Given the description of an element on the screen output the (x, y) to click on. 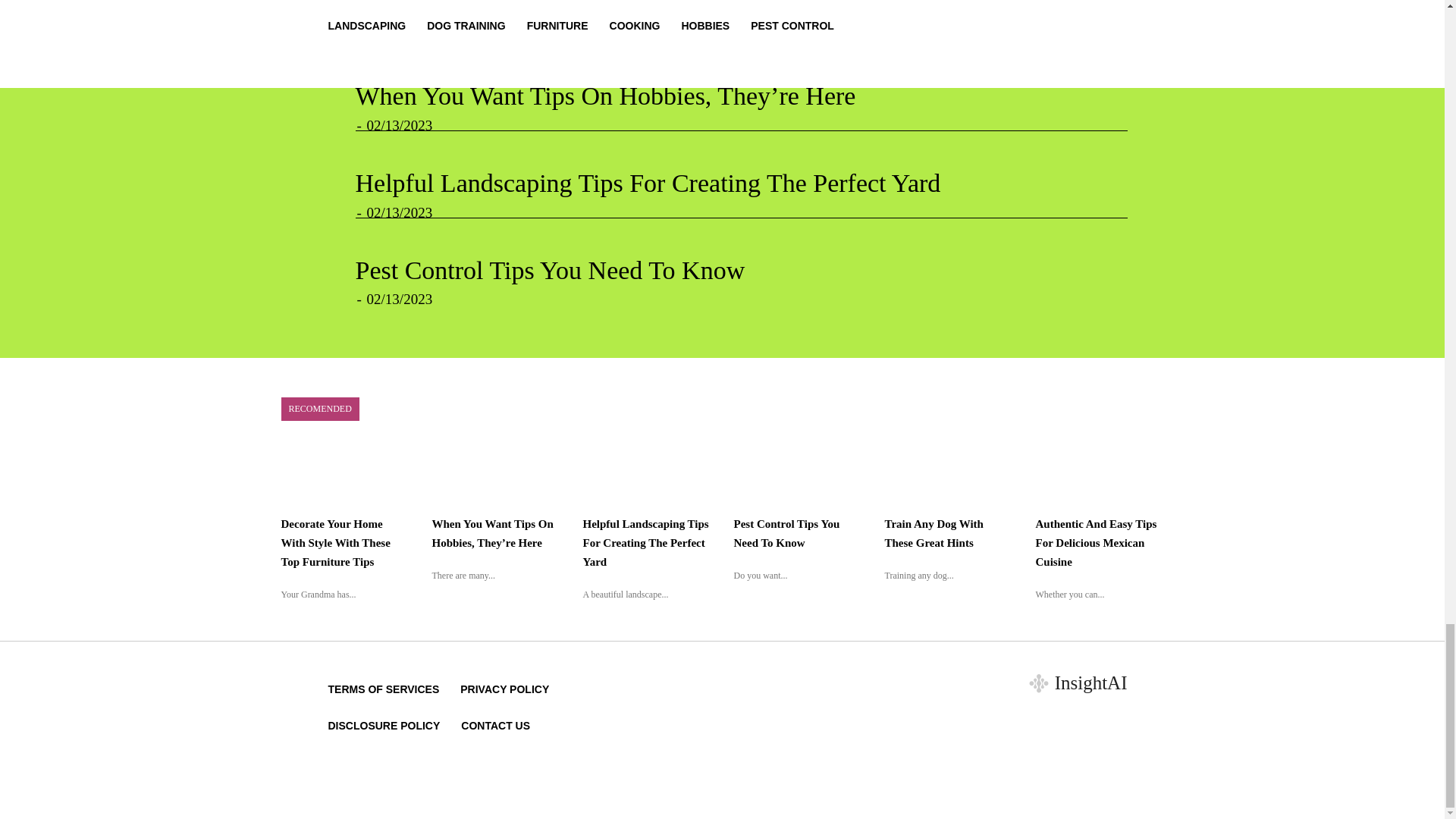
Decorate Your Home With Style With These Top Furniture Tips (683, 11)
Decorate Your Home With Style With These Top Furniture Tips (683, 11)
Pest Control Tips You Need To Know (549, 270)
Helpful Landscaping Tips For Creating The Perfect Yard (647, 182)
Decorate Your Home With Style With These Top Furniture Tips (335, 542)
Helpful Landscaping Tips For Creating The Perfect Yard (647, 182)
